Given the description of an element on the screen output the (x, y) to click on. 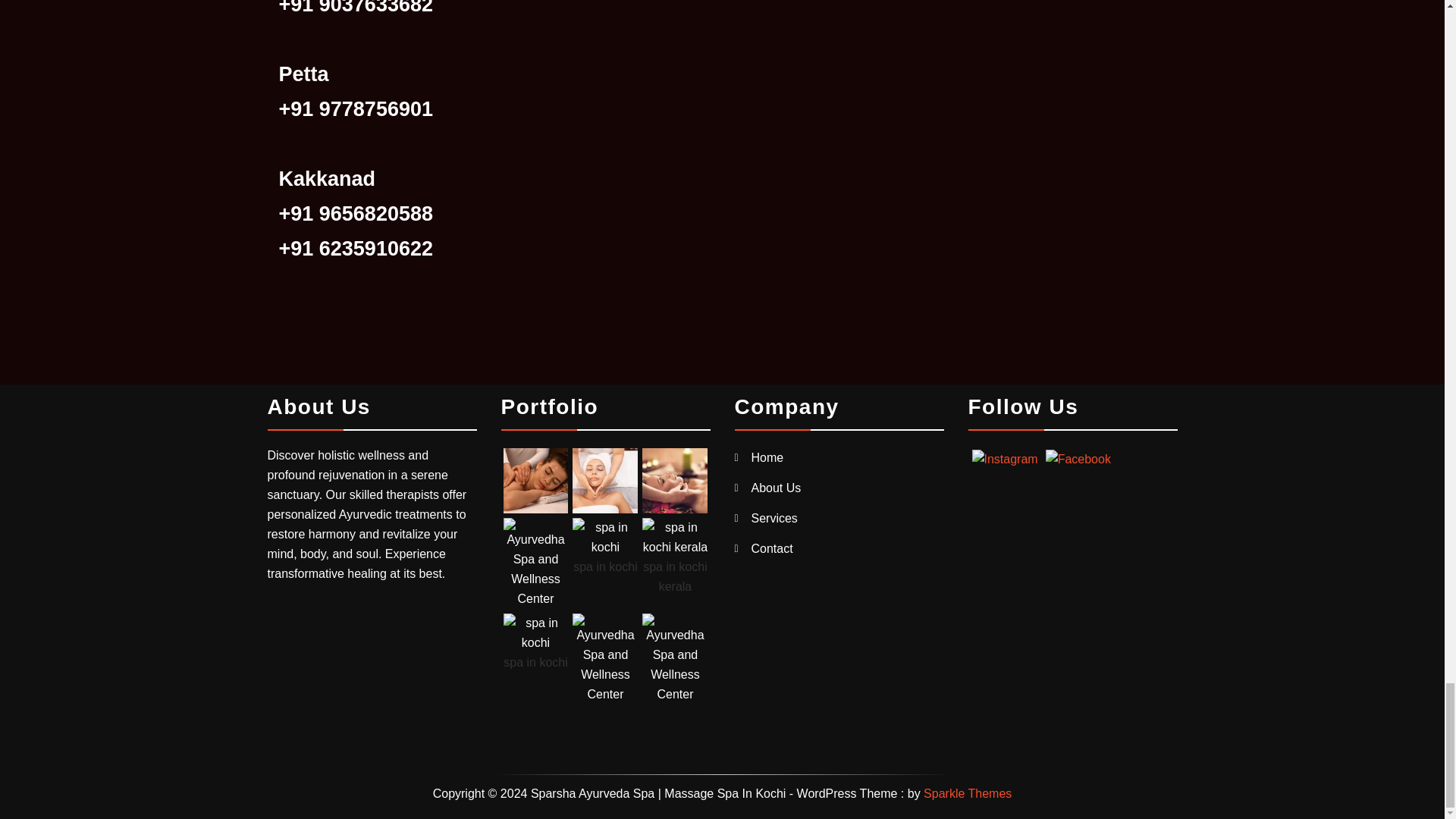
Home (767, 457)
Services (773, 517)
About Us (775, 487)
Sparkle Themes (967, 793)
Contact (771, 548)
